Given the description of an element on the screen output the (x, y) to click on. 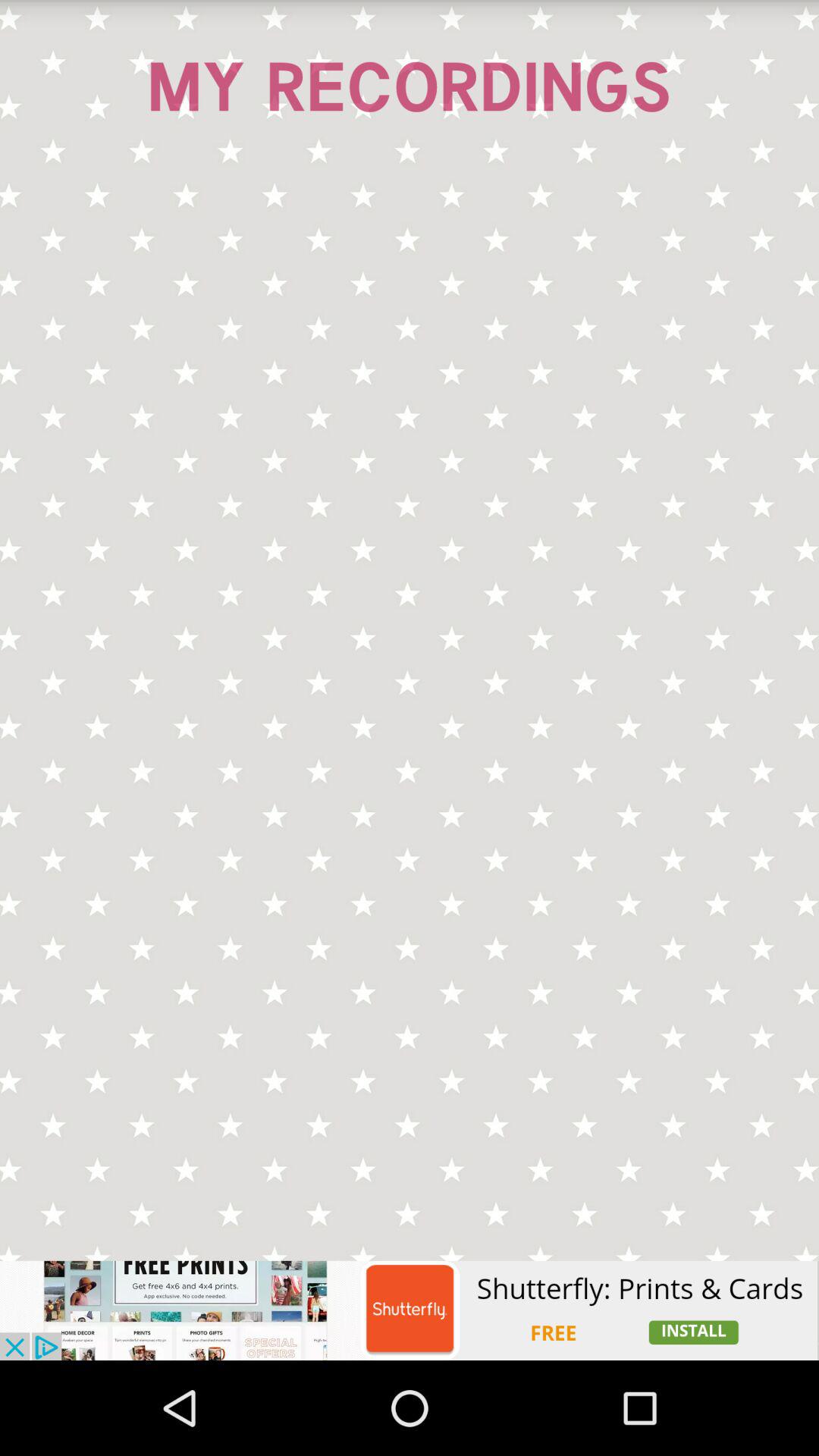
seeing in the image (409, 713)
